Given the description of an element on the screen output the (x, y) to click on. 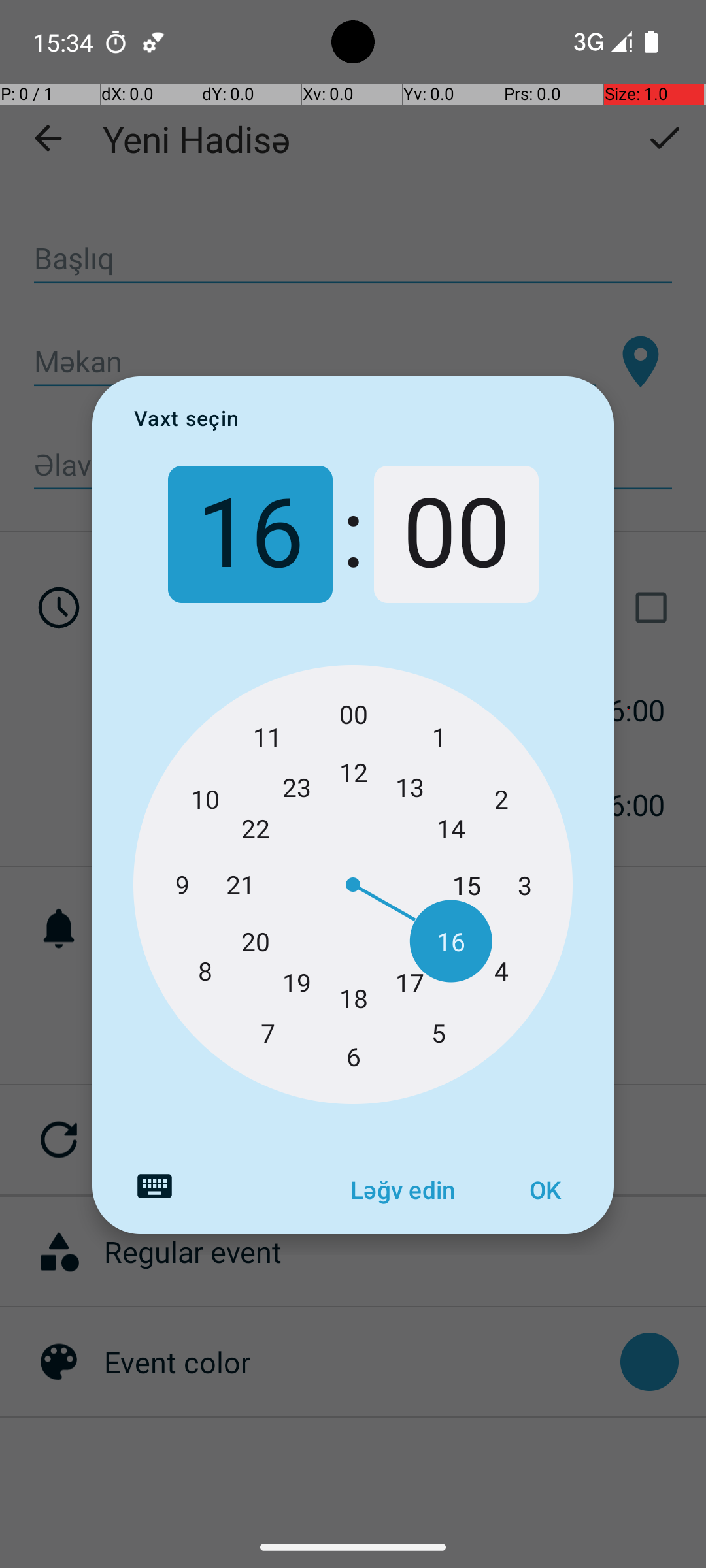
Zamanı daxil etmək üçün mətnlə daxiletmə rejiminə keçin Element type: android.widget.Button (154, 1186)
Ləğv edin Element type: android.widget.Button (402, 1189)
